Given the description of an element on the screen output the (x, y) to click on. 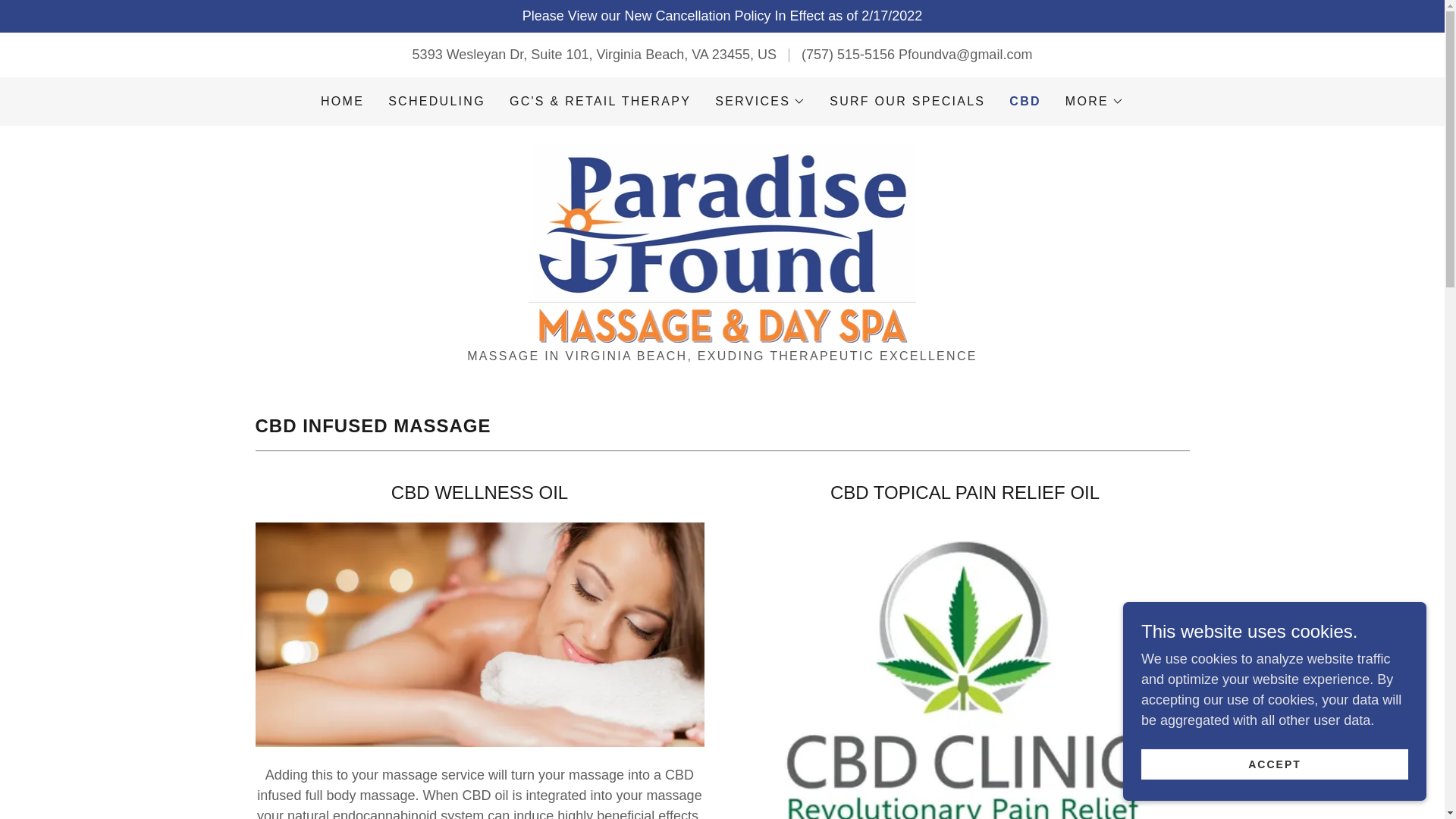
Paradise Found Massage and Day Spa (722, 242)
CBD (1025, 101)
SERVICES (759, 101)
HOME (341, 101)
SCHEDULING (436, 101)
SURF OUR SPECIALS (907, 101)
MORE (1094, 101)
